Given the description of an element on the screen output the (x, y) to click on. 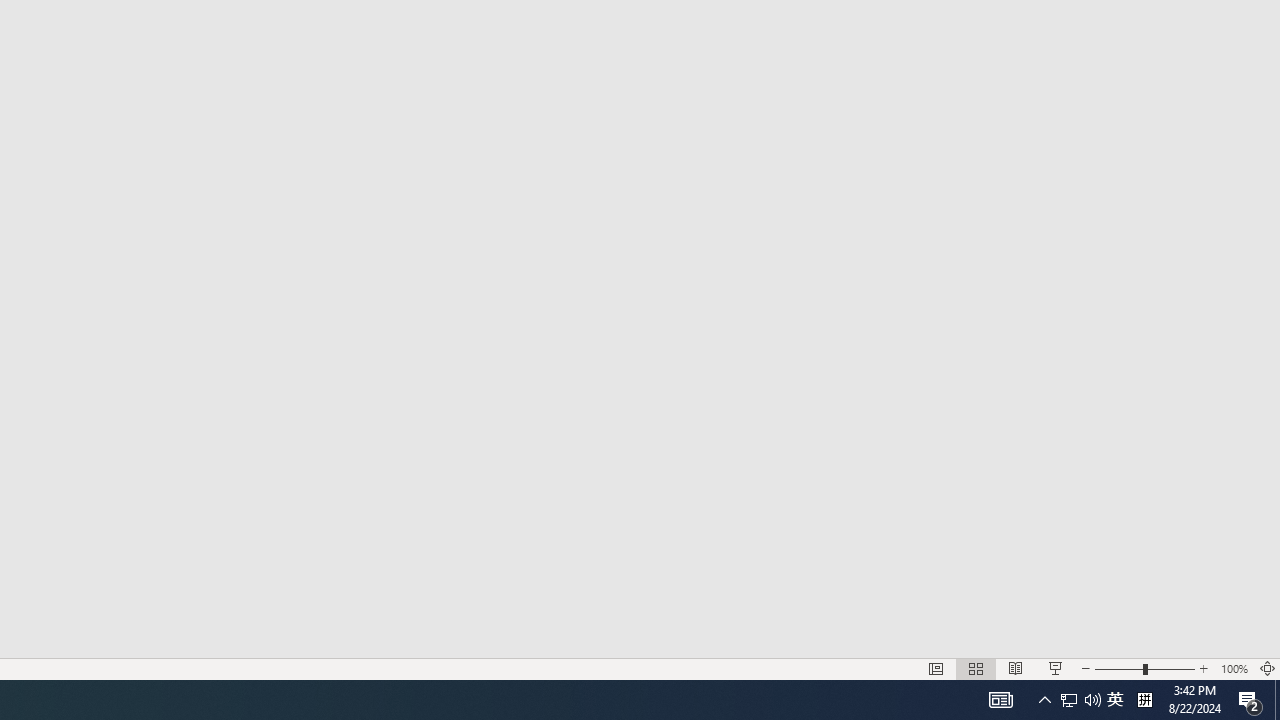
Zoom 100% (1234, 668)
